Given the description of an element on the screen output the (x, y) to click on. 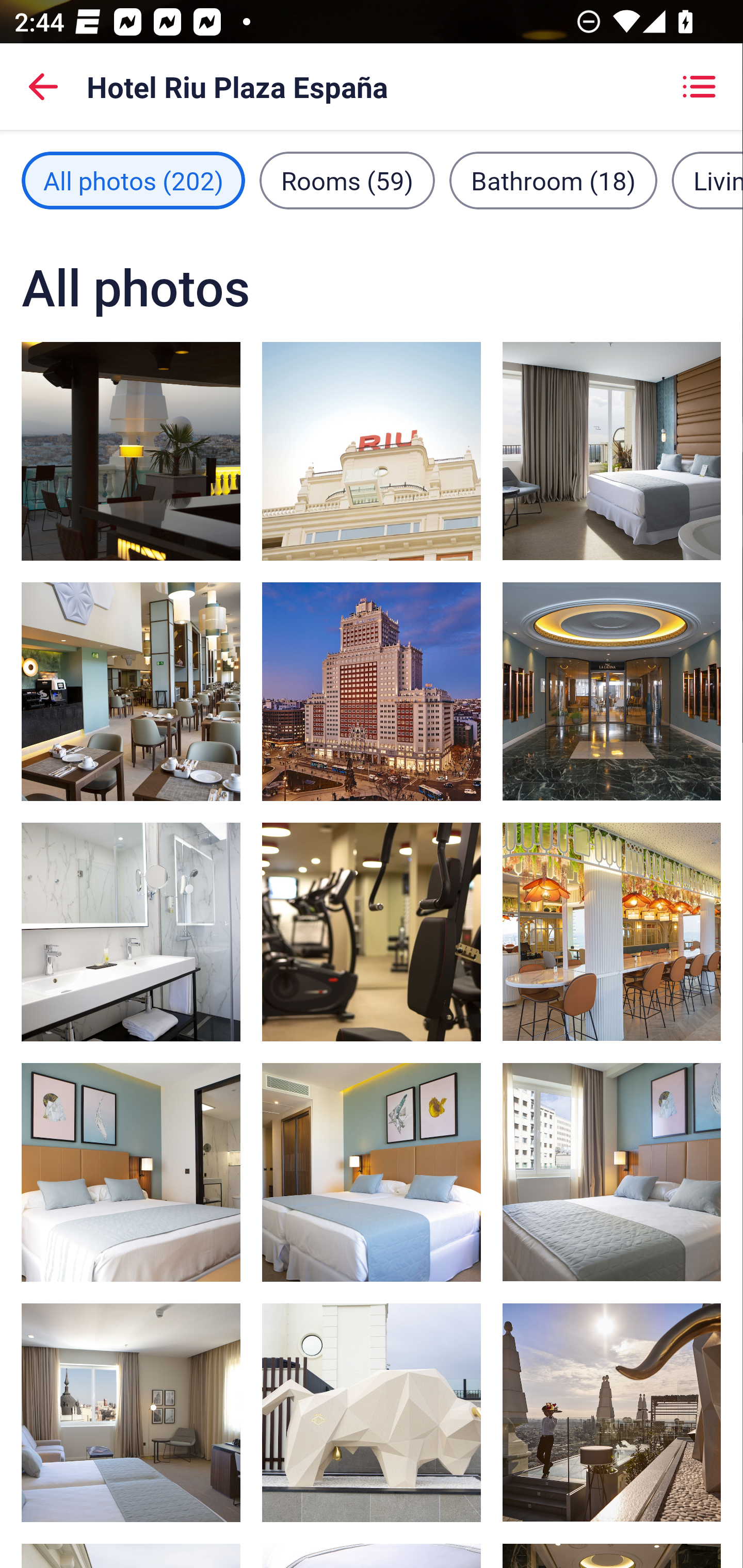
Back (43, 86)
Showing grid view (699, 86)
All photos filter, 202 images (133, 180)
Rooms filter, 59 images (346, 180)
Bathroom filter, 18 images (553, 180)
Porch, image (130, 451)
Exterior, image (371, 451)
Presidential Suite Package | View from room, image (611, 450)
Restaurant, image (130, 691)
Exterior, image (371, 691)
Meeting facility, image (611, 691)
Gym, image (371, 932)
2 bars/lounges, rooftop bar, lobby lounge, image (611, 932)
View from room, image (611, 1172)
Exterior, image (371, 1412)
Restaurant, image (611, 1411)
